Given the description of an element on the screen output the (x, y) to click on. 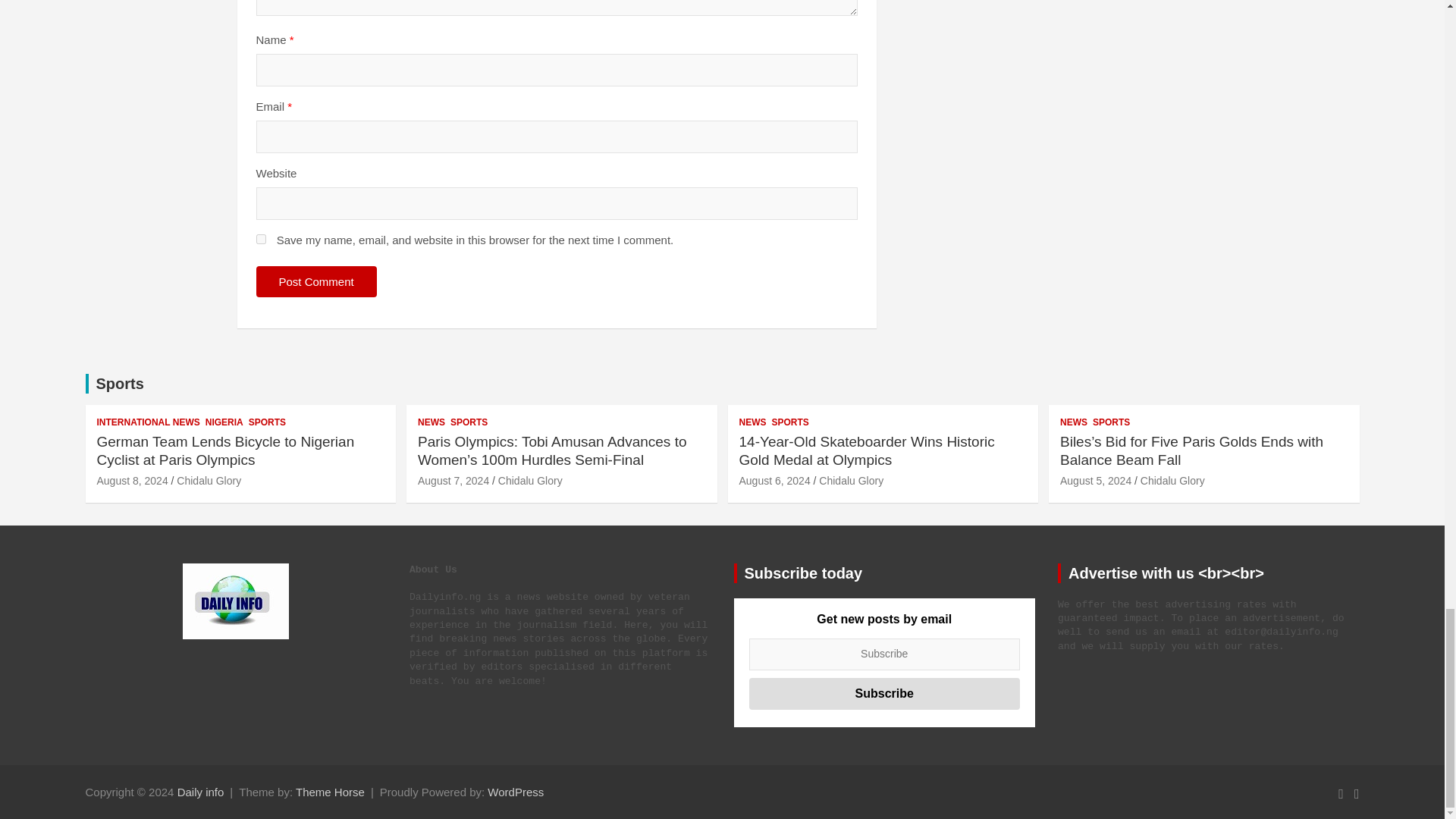
Subscribe (884, 694)
yes (261, 239)
Post Comment (316, 281)
